Given the description of an element on the screen output the (x, y) to click on. 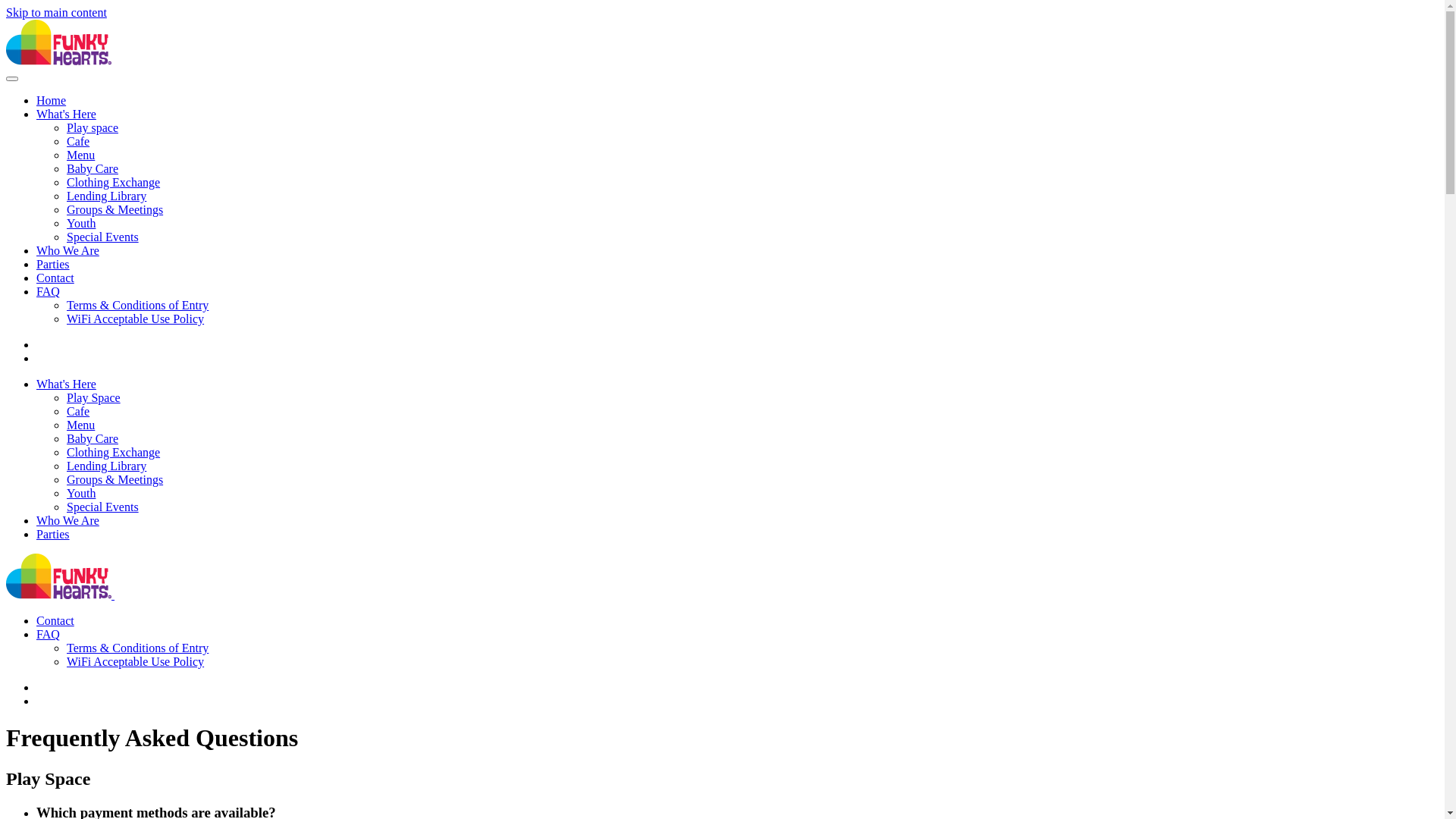
Youth Element type: text (80, 492)
Contact Element type: text (55, 277)
Menu Element type: text (80, 424)
Baby Care Element type: text (92, 438)
Skip to main content Element type: text (56, 12)
Cafe Element type: text (77, 410)
Contact Element type: text (55, 620)
What's Here Element type: text (66, 383)
Lending Library Element type: text (106, 465)
Terms & Conditions of Entry Element type: text (137, 647)
Groups & Meetings Element type: text (114, 479)
Parties Element type: text (52, 263)
Special Events Element type: text (102, 506)
FAQ Element type: text (47, 633)
Lending Library Element type: text (106, 195)
Cafe Element type: text (77, 140)
Special Events Element type: text (102, 236)
Clothing Exchange Element type: text (113, 451)
Groups & Meetings Element type: text (114, 209)
Play Space Element type: text (93, 397)
Youth Element type: text (80, 222)
WiFi Acceptable Use Policy Element type: text (134, 661)
Clothing Exchange Element type: text (113, 181)
Menu Element type: text (80, 154)
WiFi Acceptable Use Policy Element type: text (134, 318)
Home Element type: text (50, 100)
Parties Element type: text (52, 533)
What's Here Element type: text (66, 113)
Baby Care Element type: text (92, 168)
Who We Are Element type: text (67, 250)
Terms & Conditions of Entry Element type: text (137, 304)
Who We Are Element type: text (67, 520)
FAQ Element type: text (47, 291)
Play space Element type: text (92, 127)
